Given the description of an element on the screen output the (x, y) to click on. 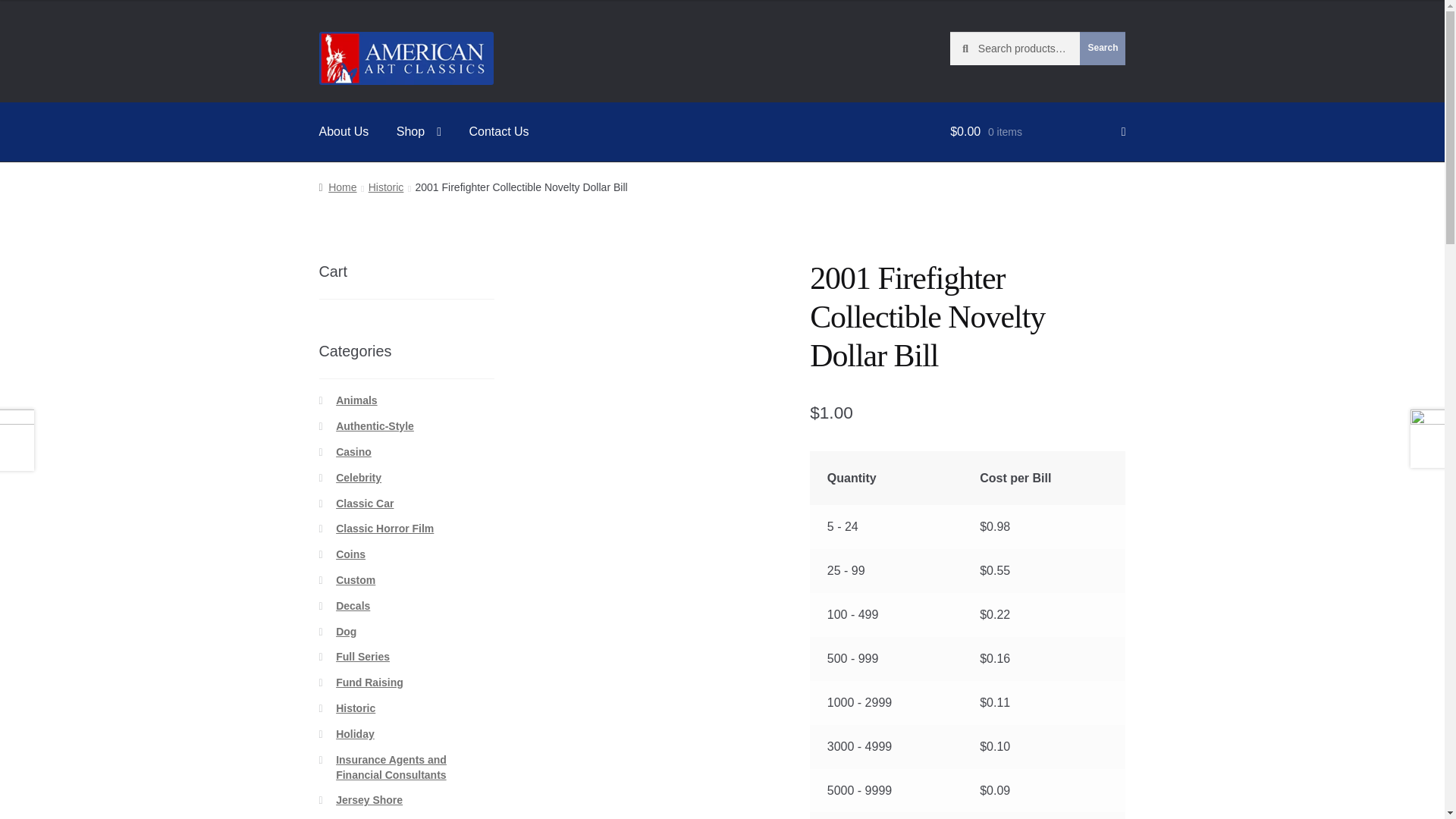
Shop (418, 131)
View your shopping cart (1037, 131)
About Us (344, 131)
Search (1102, 48)
